Given the description of an element on the screen output the (x, y) to click on. 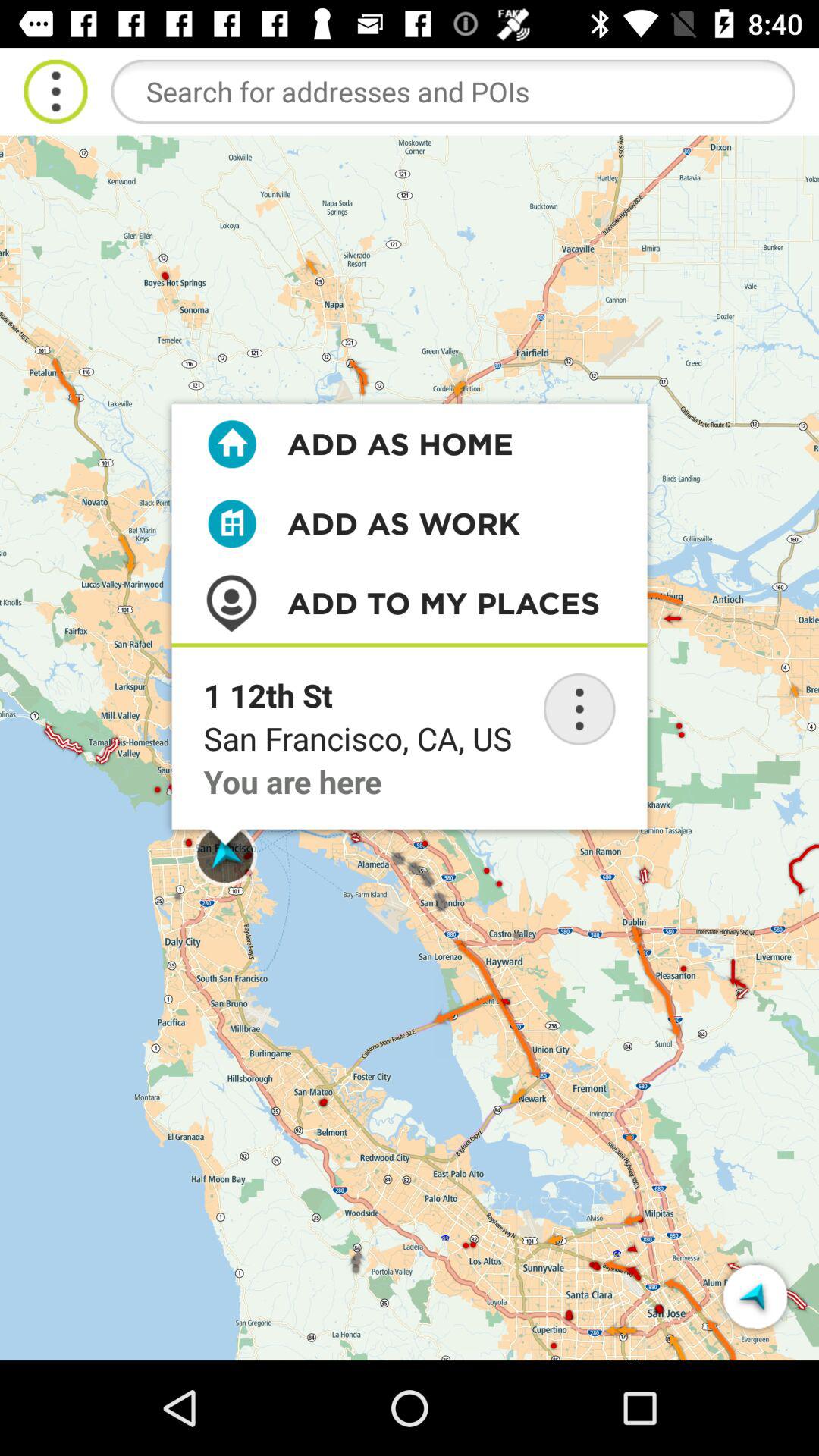
open menu (55, 91)
